Given the description of an element on the screen output the (x, y) to click on. 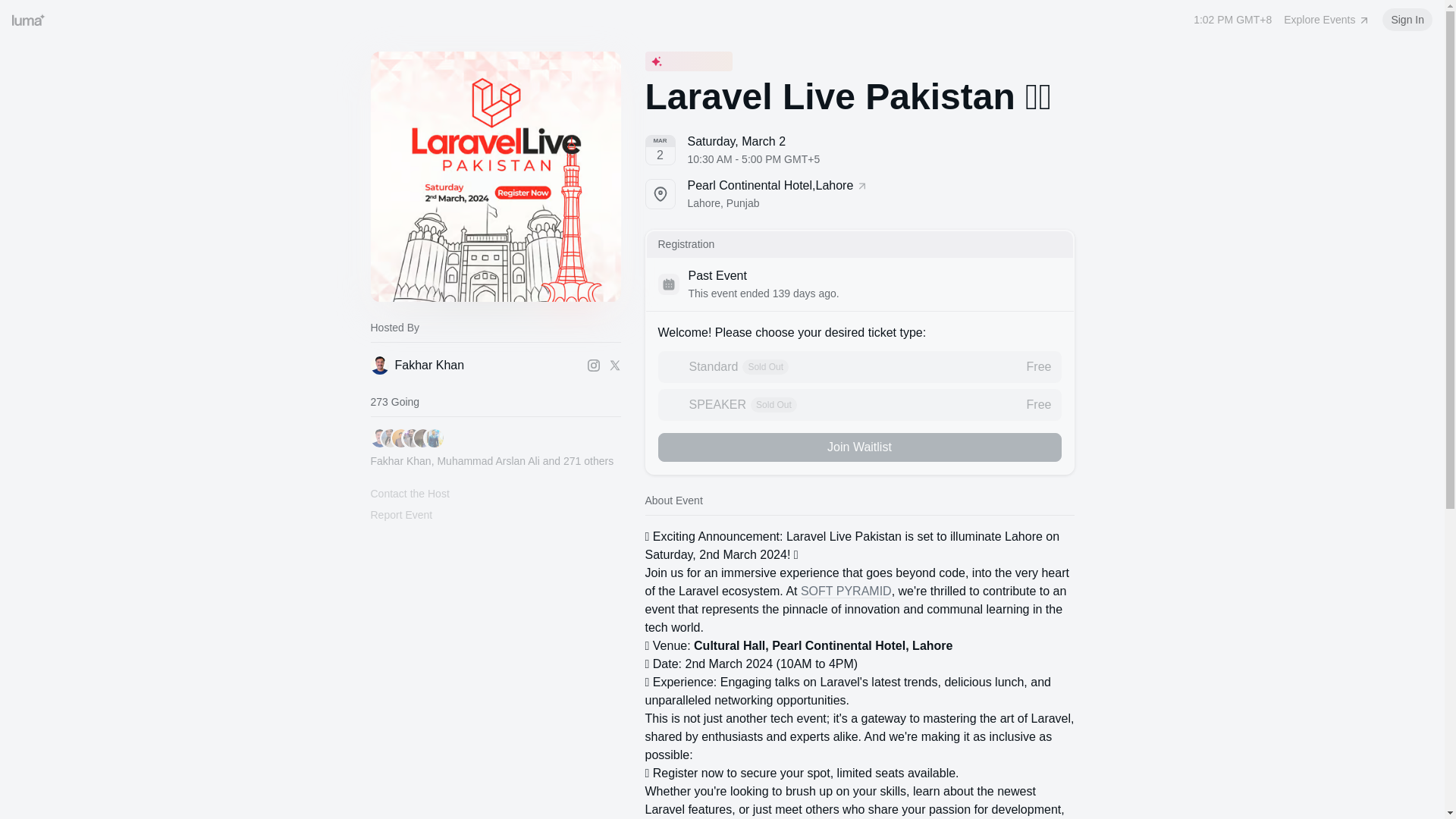
Fakhar Khan, Muhammad Arslan Ali and 271 others (490, 449)
Sign In (859, 193)
Explore Events (1406, 19)
SOFT PYRAMID (1327, 19)
Contact the Host (845, 591)
Fakhar Khan (859, 367)
Report Event (408, 493)
Join Waitlist (474, 365)
